Given the description of an element on the screen output the (x, y) to click on. 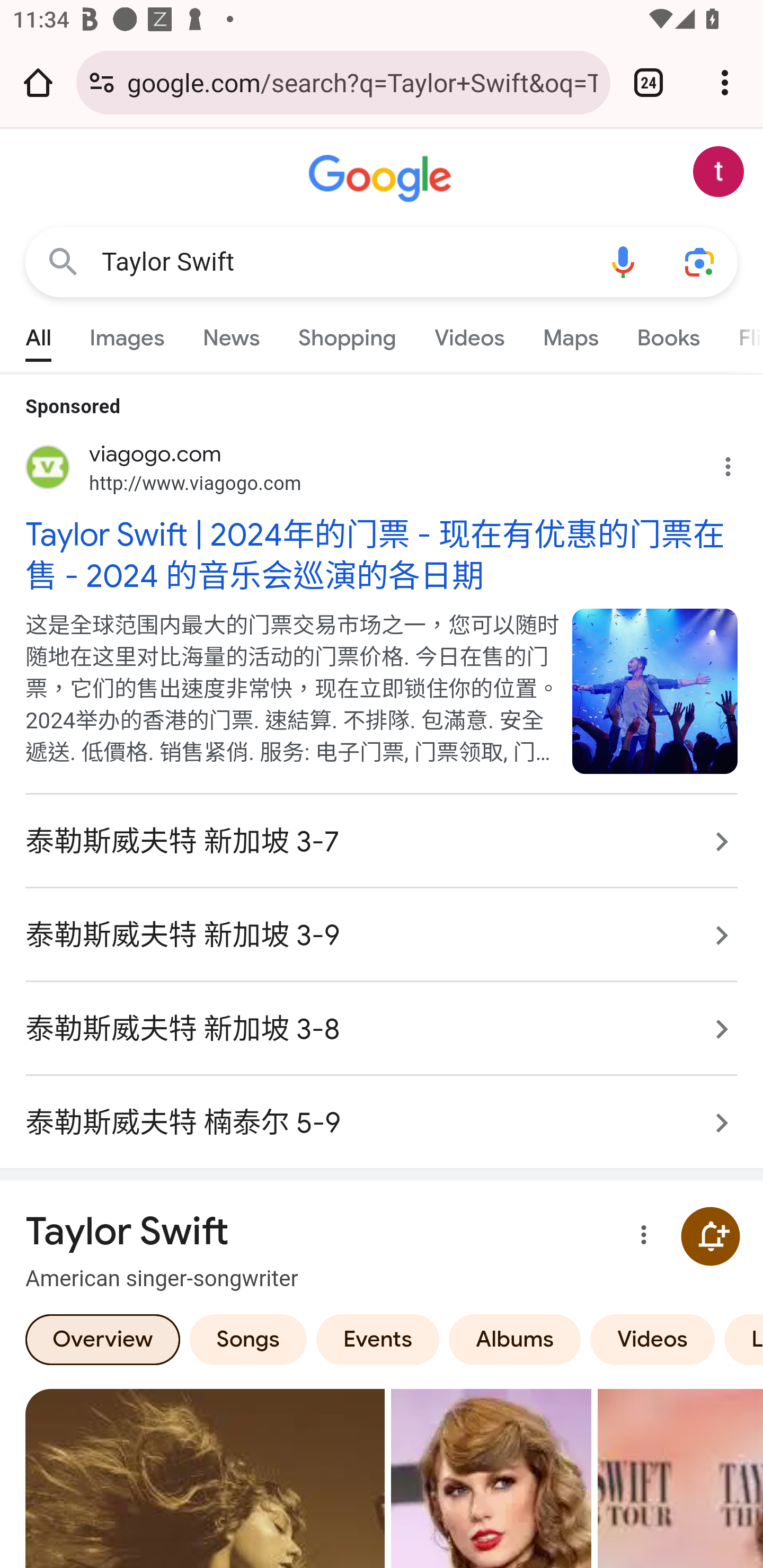
Open the home page (38, 82)
Connection is secure (101, 82)
Switch or close tabs (648, 82)
Customize and control Google Chrome (724, 82)
Google (381, 179)
Google Search (63, 262)
Search using your camera or photos (699, 262)
Taylor Swift (343, 261)
Images (127, 333)
News (231, 333)
Shopping (347, 333)
Videos (469, 333)
Maps (570, 333)
Books (668, 333)
Why this ad? (738, 462)
Image from viagogo.com (654, 690)
泰勒斯威夫特 新加坡 3-7 (381, 841)
泰勒斯威夫特 新加坡 3-9 (381, 935)
泰勒斯威夫特 新加坡 3-8 (381, 1028)
泰勒斯威夫特 楠泰尔 5-9 (381, 1112)
Get notifications about Taylor Swift (710, 1235)
More options (640, 1236)
Overview (103, 1338)
Songs (247, 1338)
Events (376, 1338)
Albums (514, 1338)
Videos (652, 1338)
